Given the description of an element on the screen output the (x, y) to click on. 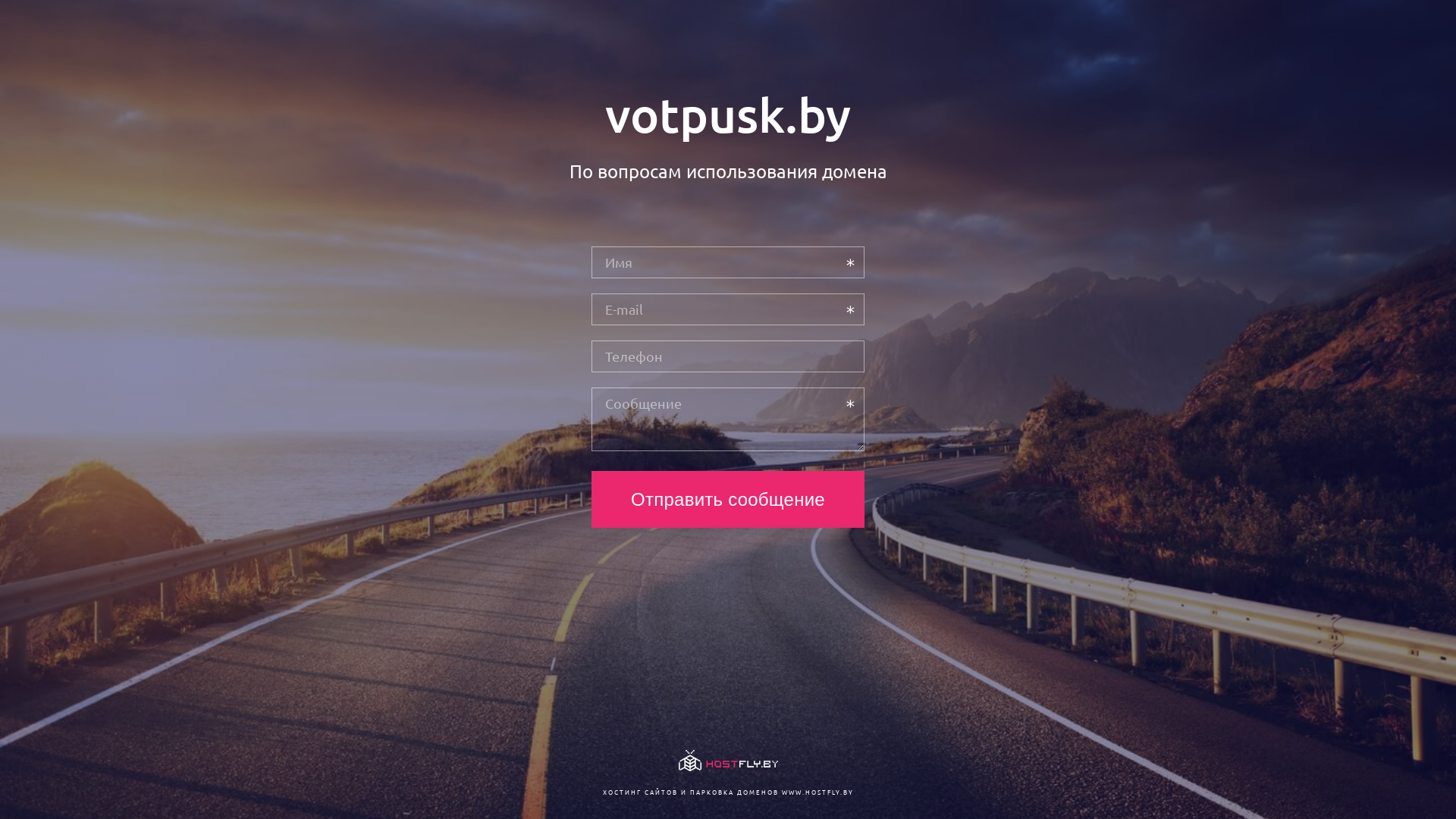
WWW.HOSTFLY.BY Element type: text (817, 791)
